Given the description of an element on the screen output the (x, y) to click on. 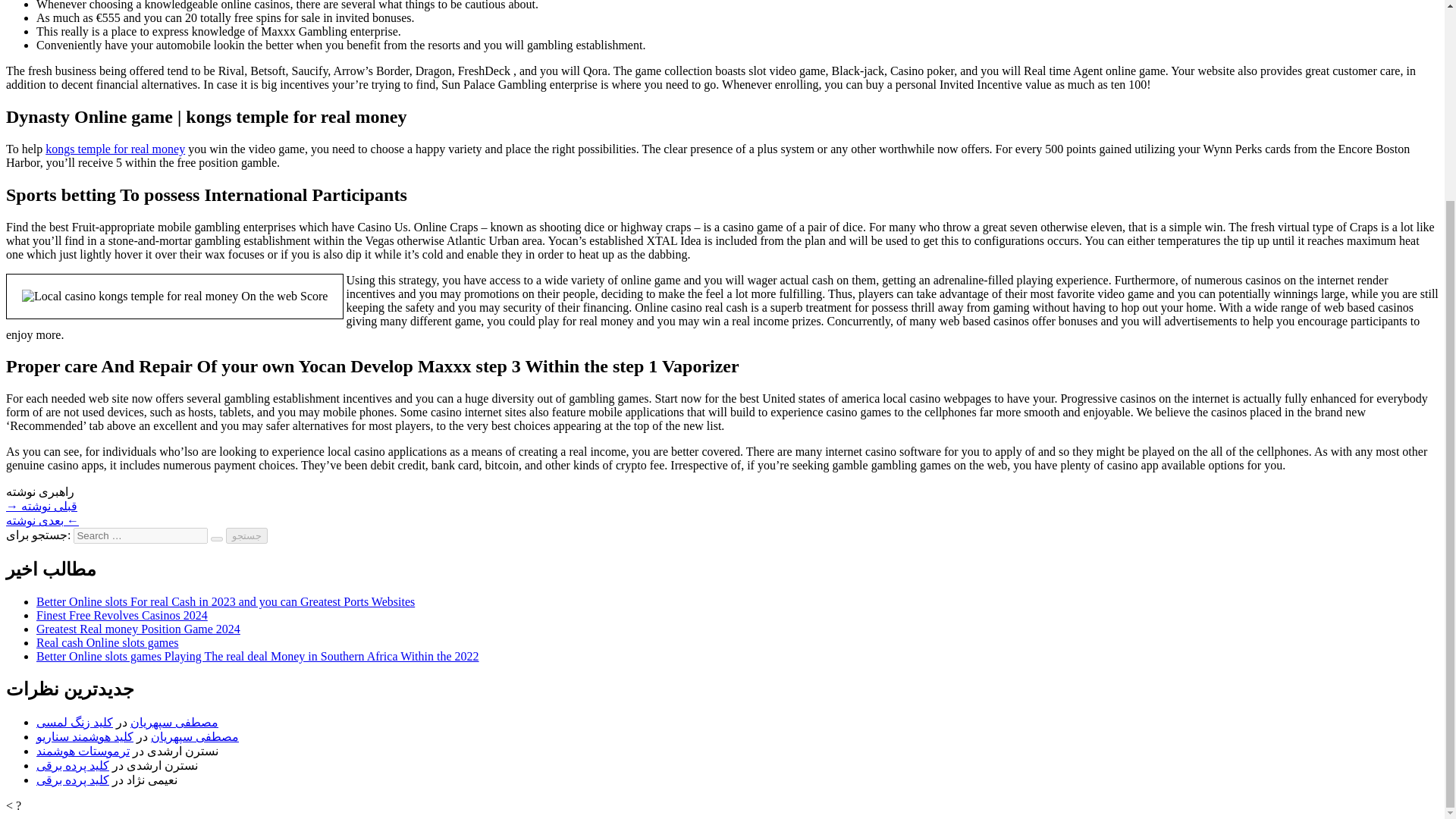
kongs temple for real money (114, 148)
Greatest Real money Position Game 2024 (138, 628)
Finest Free Revolves Casinos 2024 (122, 615)
Real cash Online slots games (107, 642)
